Given the description of an element on the screen output the (x, y) to click on. 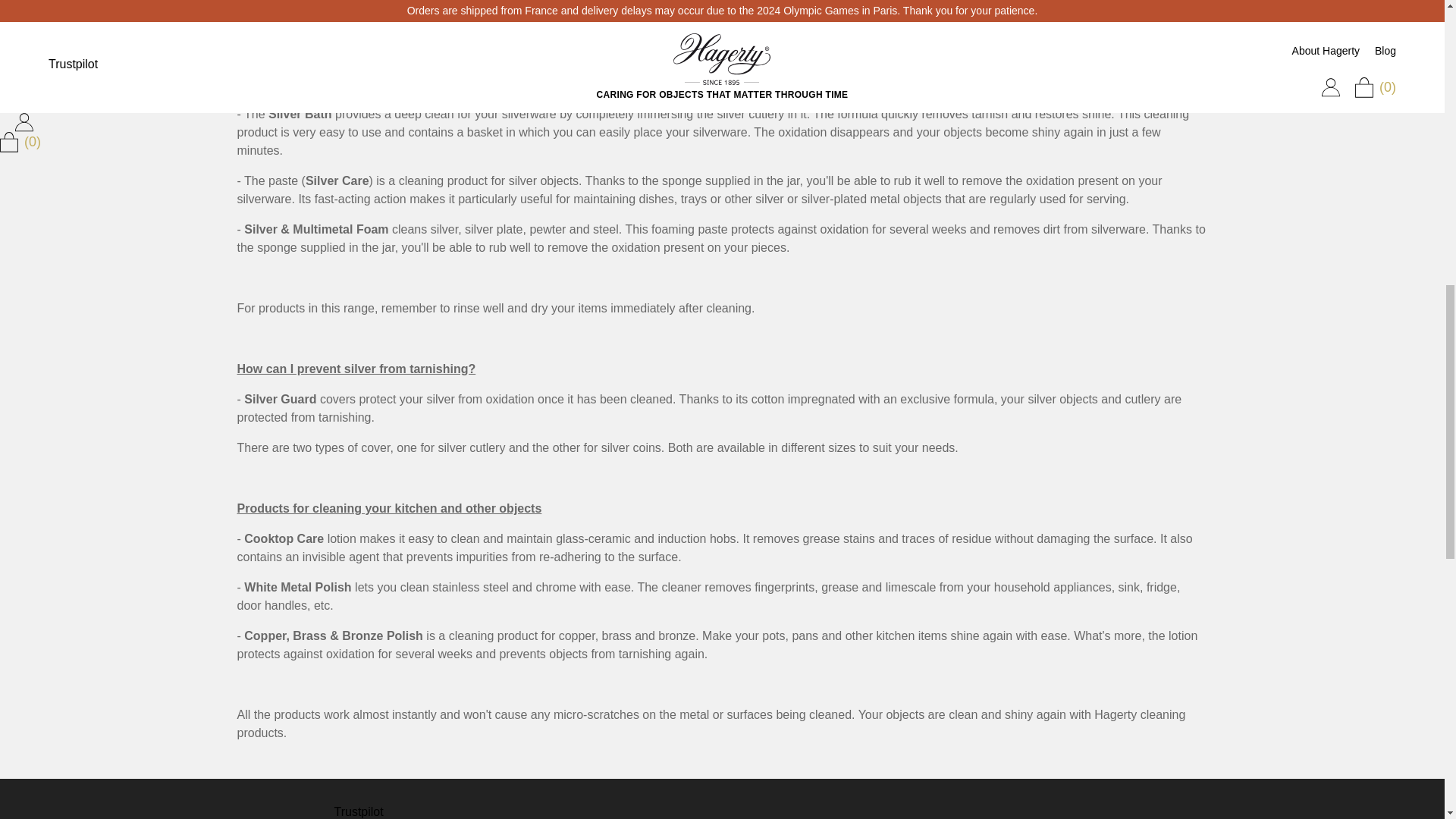
Trustpilot (357, 811)
